Given the description of an element on the screen output the (x, y) to click on. 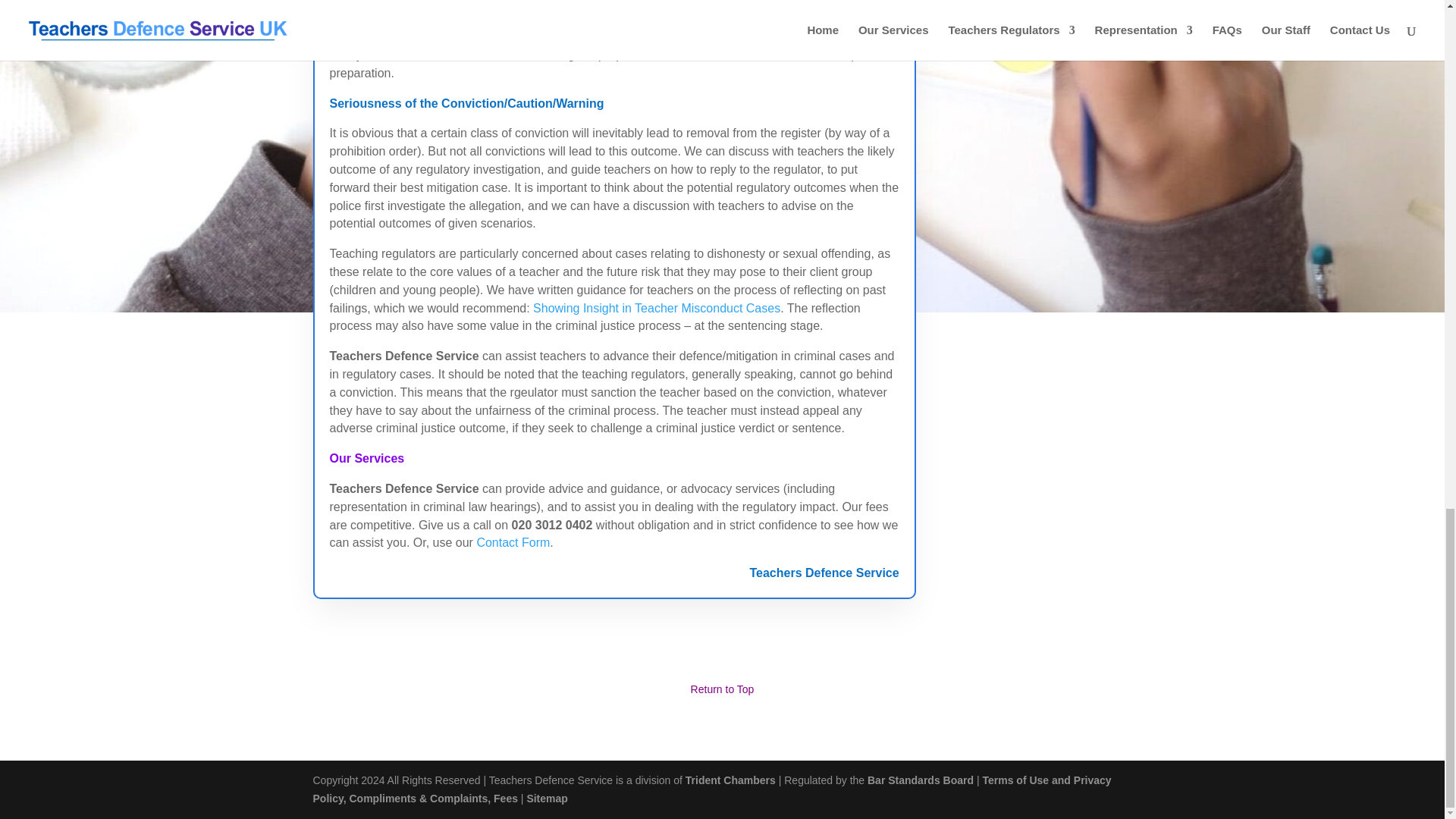
Contact Teachers Defence Service UK (513, 542)
Return to Top (722, 689)
Trident Chambers (730, 779)
Sitemap (546, 798)
Contact Form (513, 542)
Showing Insight in Teacher Misconduct Cases (656, 308)
Bar Standards Board (920, 779)
